Given the description of an element on the screen output the (x, y) to click on. 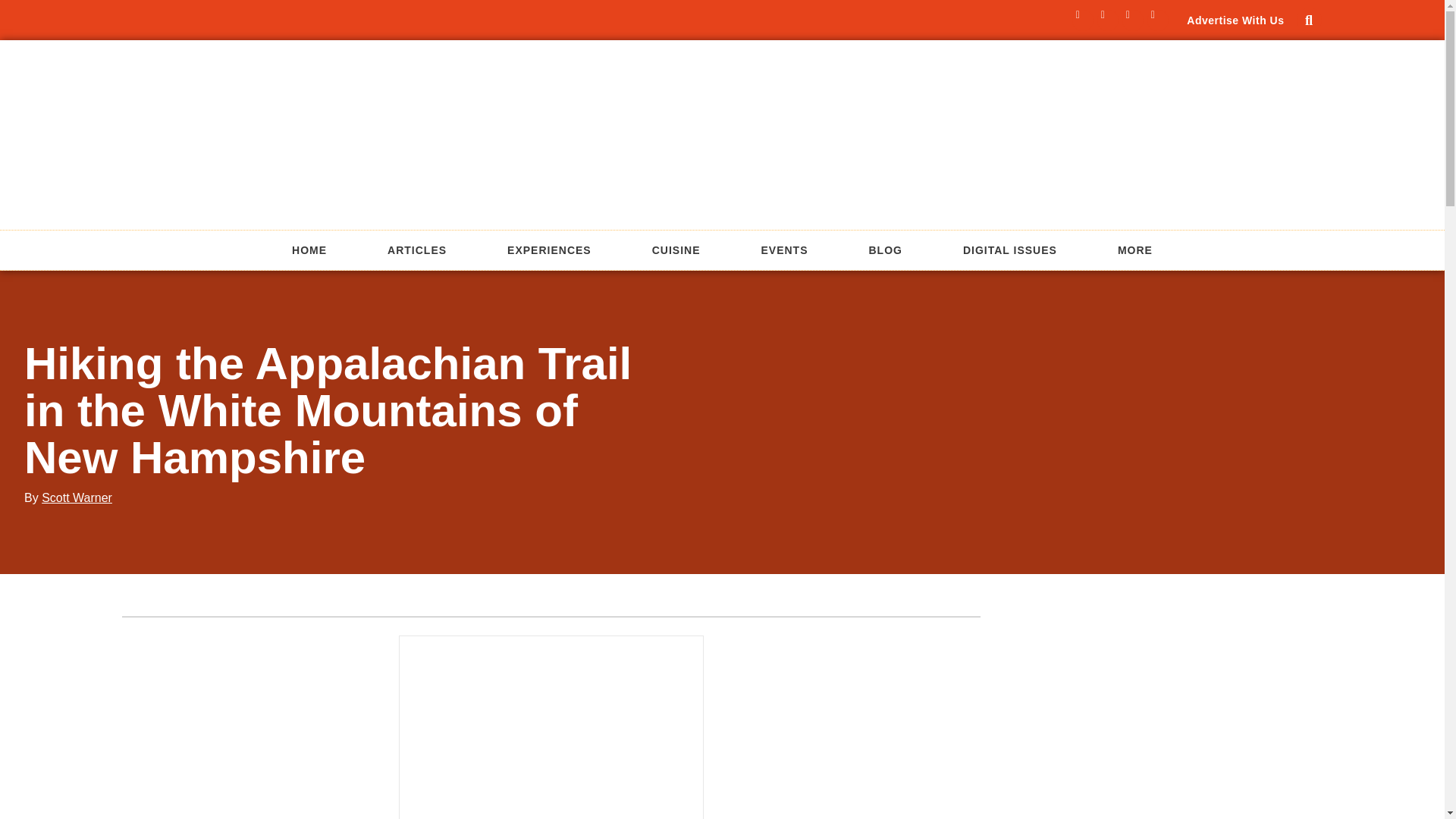
BLOG (885, 250)
Advertise With Us (1235, 20)
Scott Warner (77, 497)
CUISINE (675, 250)
MORE (1134, 250)
DIGITAL ISSUES (1010, 250)
EVENTS (784, 250)
HOME (309, 250)
EXPERIENCES (549, 250)
ARTICLES (416, 250)
